Given the description of an element on the screen output the (x, y) to click on. 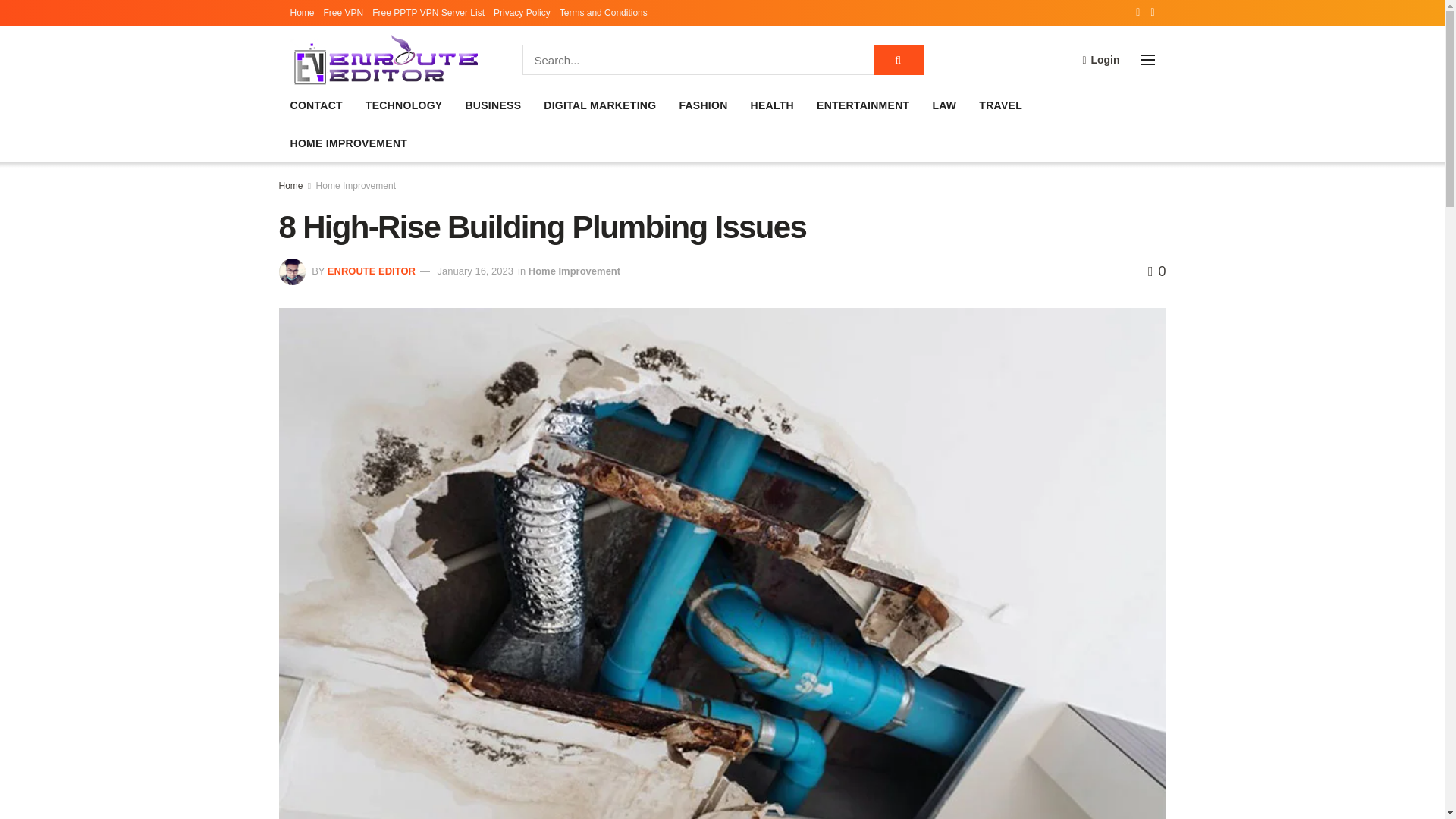
Login (1100, 59)
DIGITAL MARKETING (599, 105)
HOME IMPROVEMENT (348, 142)
HEALTH (772, 105)
Home (301, 12)
CONTACT (315, 105)
Privacy Policy (521, 12)
TECHNOLOGY (403, 105)
LAW (943, 105)
BUSINESS (492, 105)
Terms and Conditions (603, 12)
ENTERTAINMENT (862, 105)
Free VPN (343, 12)
FASHION (702, 105)
Free PPTP VPN Server List (428, 12)
